Given the description of an element on the screen output the (x, y) to click on. 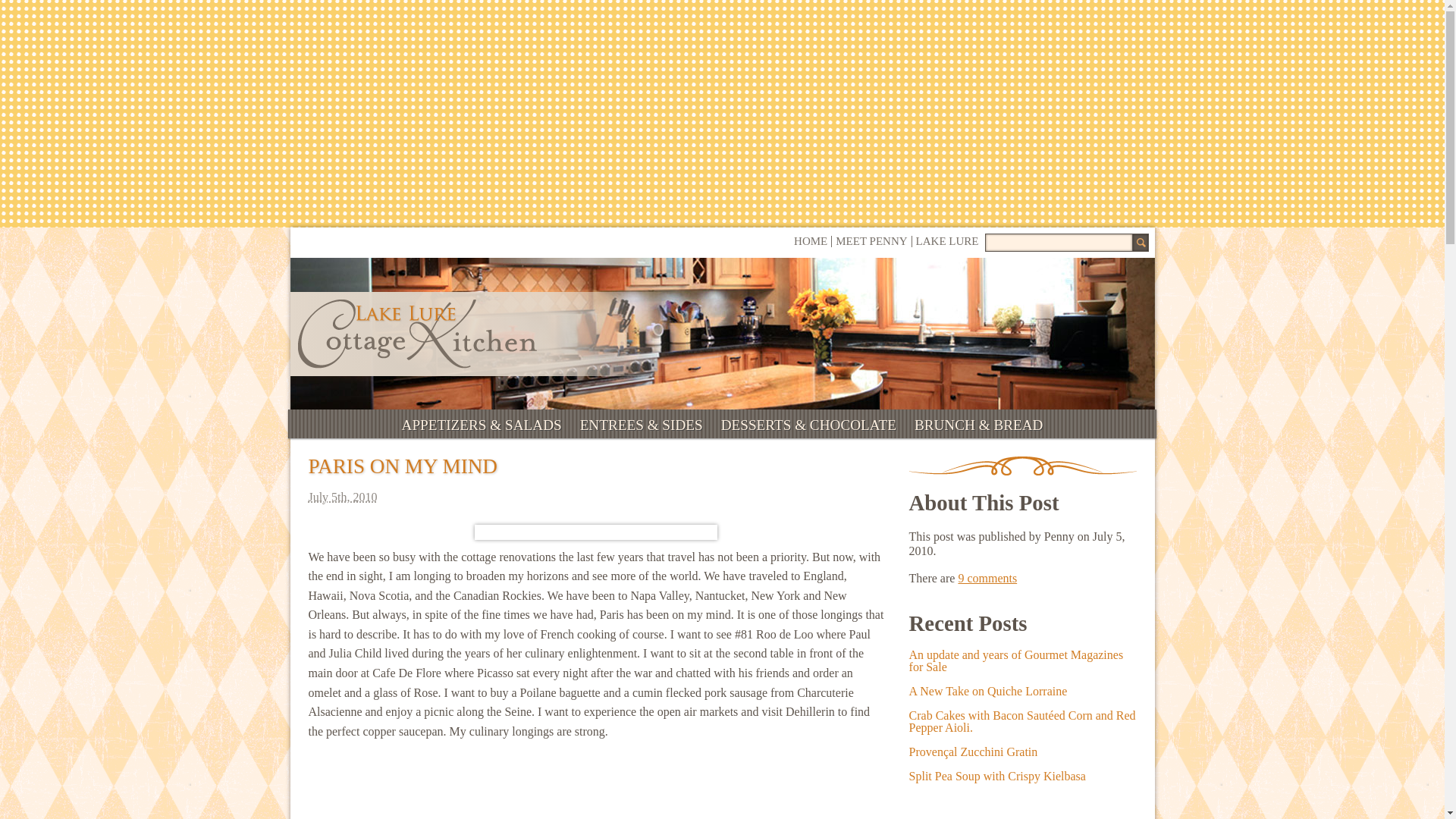
MEET PENNY (871, 241)
LAKE LURE (946, 241)
HOME (810, 241)
An update and years of Gourmet Magazines for Sale (1016, 660)
2010-07-05T07:42:00-04:00 (595, 497)
Lake Lure Cottage Kitchen (416, 333)
9 comments (987, 577)
Advertisement (595, 789)
Search (1139, 242)
